Given the description of an element on the screen output the (x, y) to click on. 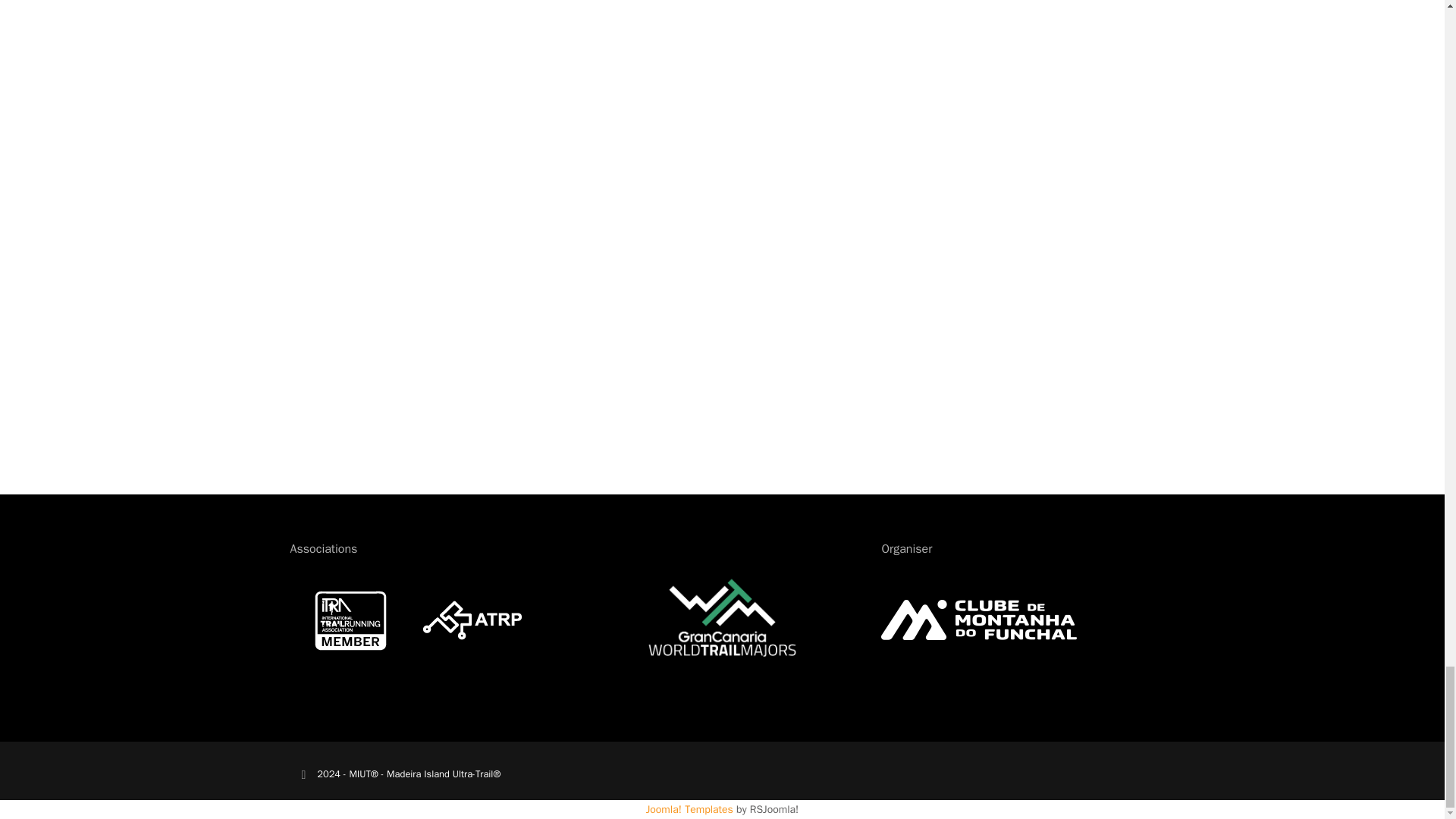
Joomla! Templates (689, 809)
